Given the description of an element on the screen output the (x, y) to click on. 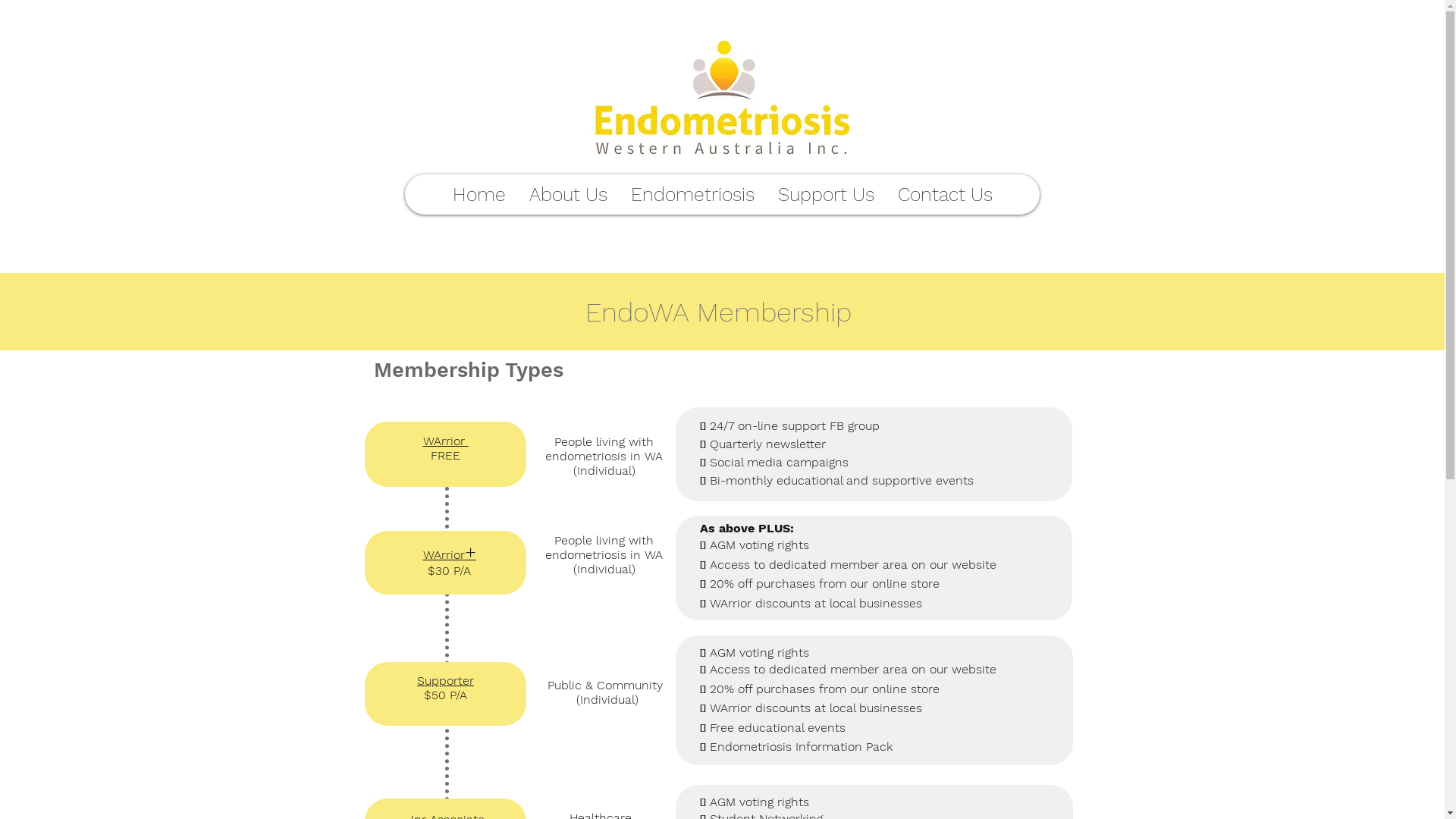
Supporter Element type: text (445, 680)
WArrior  Element type: text (445, 440)
WArrior+ Element type: text (449, 554)
Home Element type: text (477, 194)
Contact Us Element type: text (944, 194)
